Given the description of an element on the screen output the (x, y) to click on. 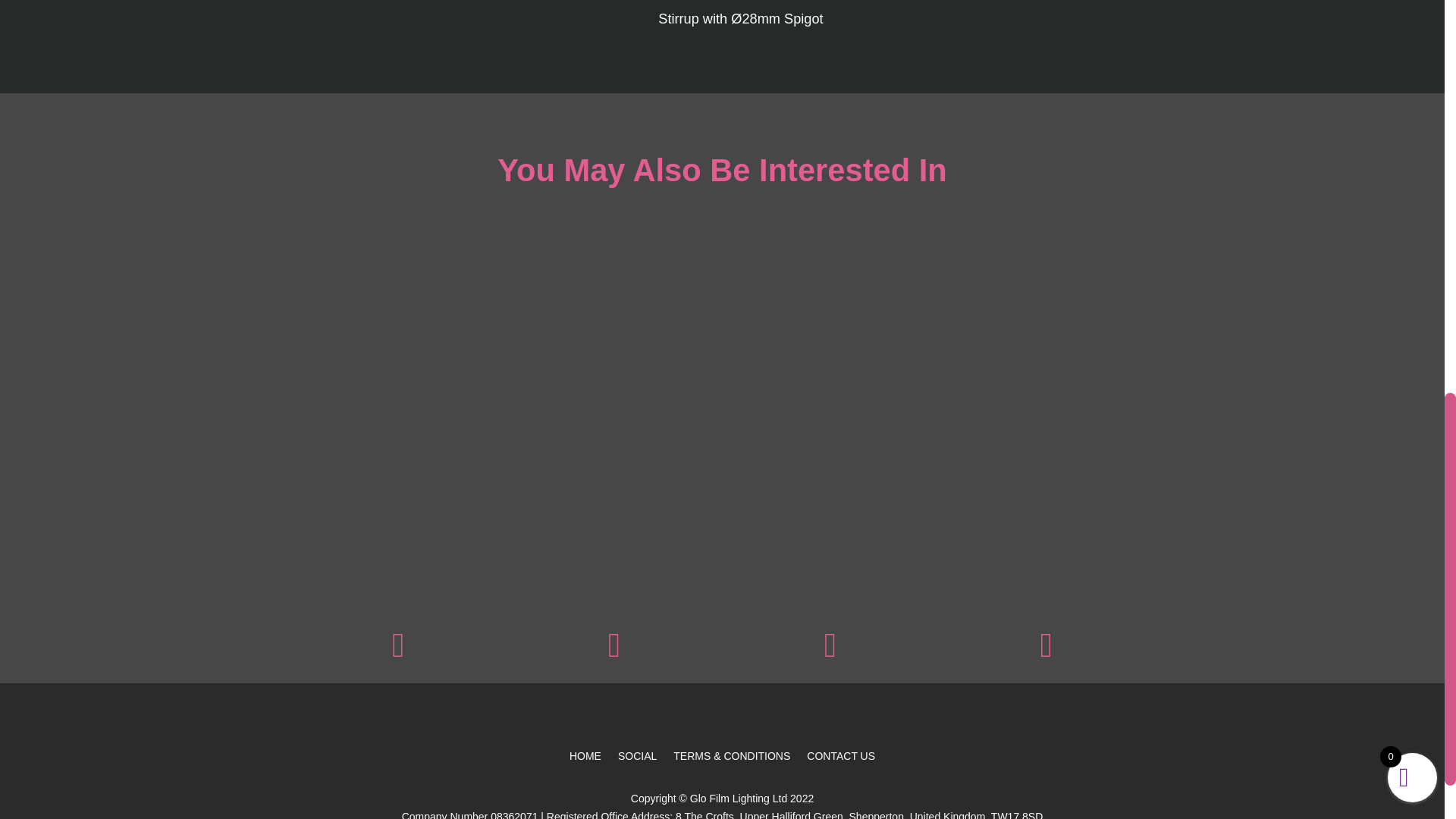
Screenshot 2023-01-06 121653 (397, 653)
Screenshot 2023-01-06 121653 (614, 653)
SOCIAL (636, 759)
HOME (585, 759)
Screenshot 2023-01-06 121653 (1045, 653)
Screenshot 2023-01-06 121653 (829, 653)
CONTACT US (840, 759)
